Given the description of an element on the screen output the (x, y) to click on. 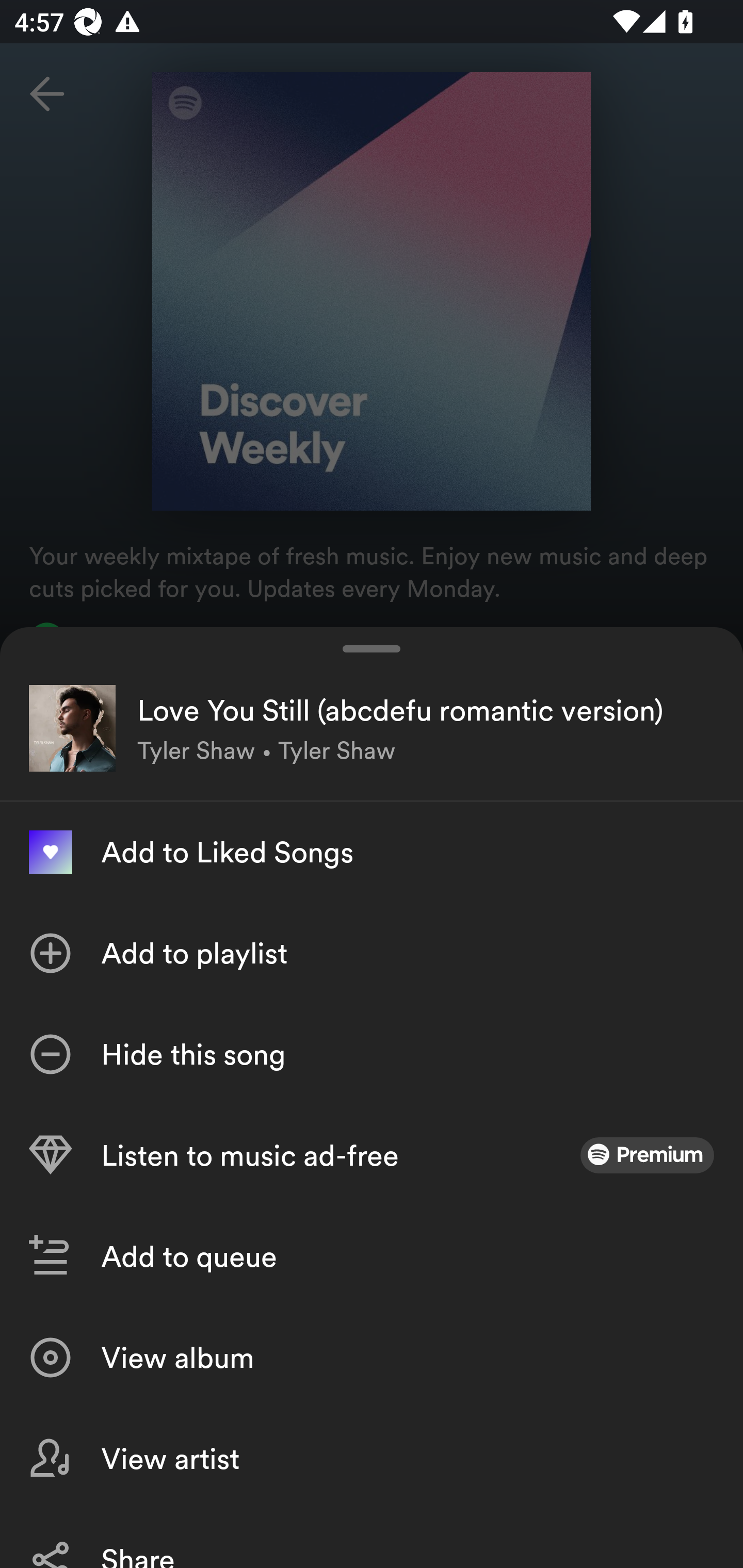
Add to Liked Songs (371, 852)
Add to playlist (371, 953)
Hide this song (371, 1054)
Listen to music ad-free (371, 1155)
Add to queue (371, 1256)
View album (371, 1357)
View artist (371, 1458)
Share (371, 1538)
